Given the description of an element on the screen output the (x, y) to click on. 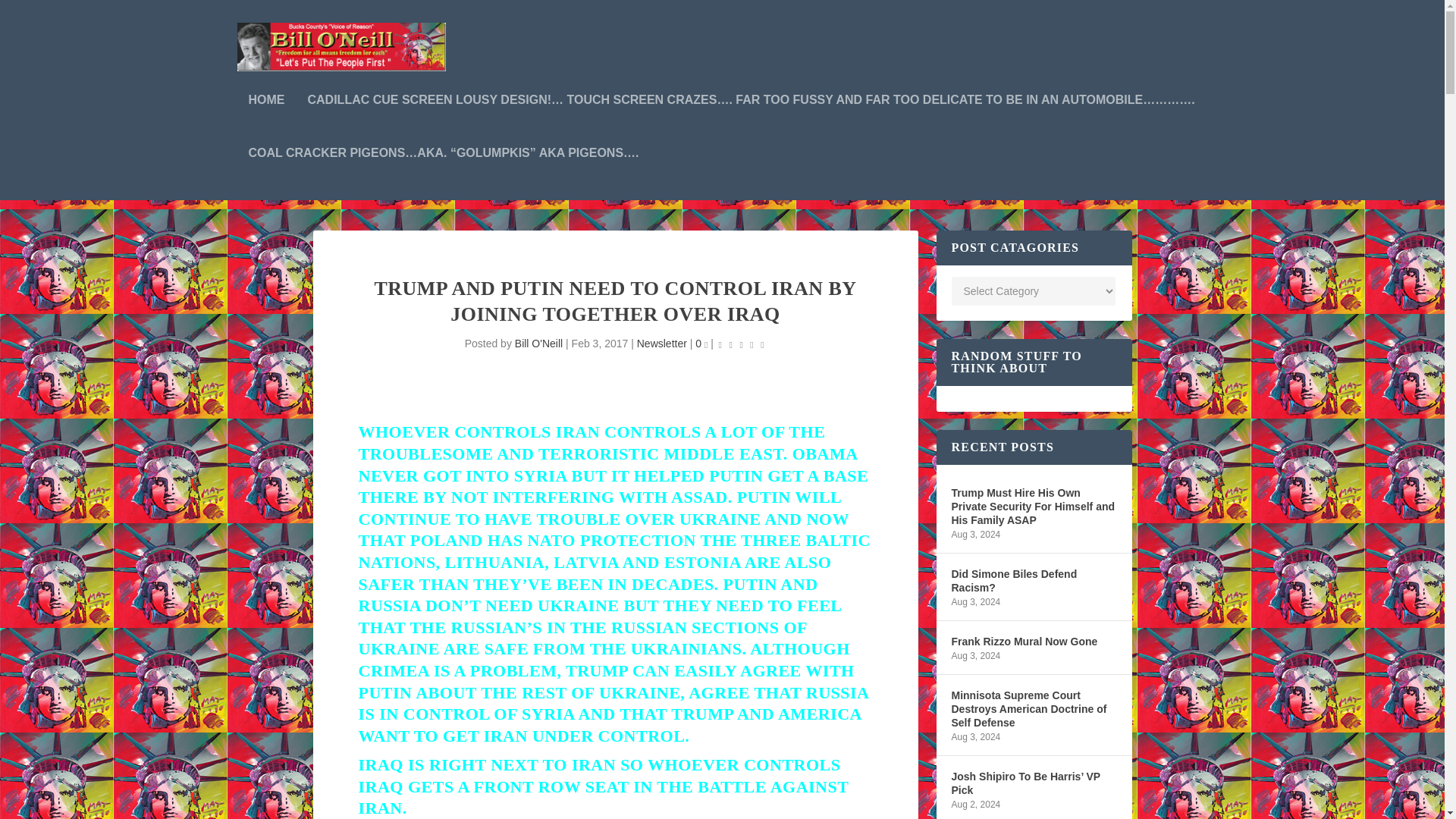
Frank Rizzo Mural Now Gone (1023, 641)
Rating: 0.00 (741, 343)
0 (701, 343)
Bill O'Neill (538, 343)
Newsletter (662, 343)
Posts by Bill O'Neill (538, 343)
Did Simone Biles Defend Racism? (1033, 581)
